Given the description of an element on the screen output the (x, y) to click on. 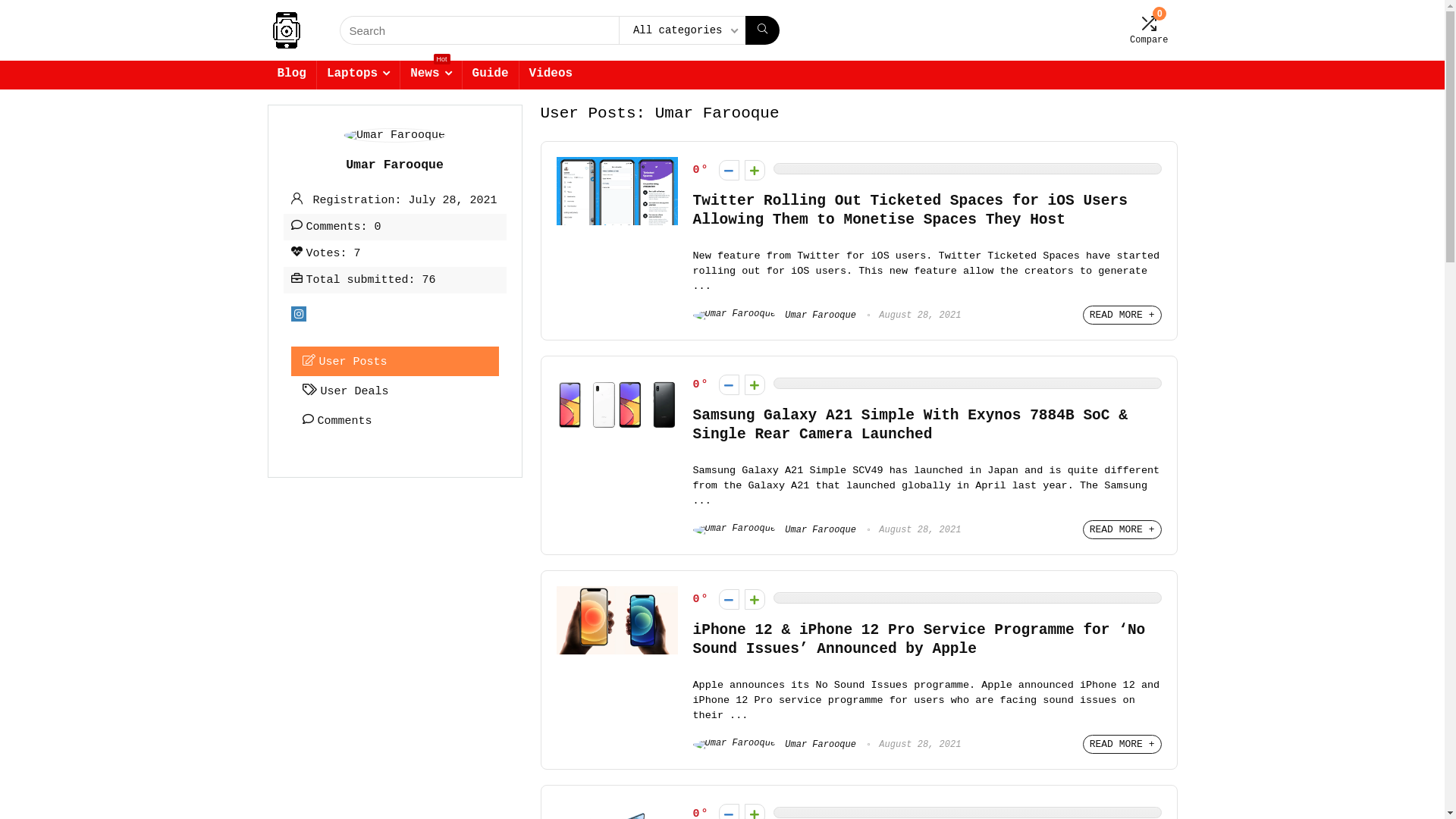
User Posts Element type: text (394, 361)
Vote up Element type: hover (754, 170)
Umar Farooque Element type: text (774, 529)
Umar Farooque Element type: text (774, 744)
Laptops Element type: text (357, 74)
Blog Element type: text (290, 74)
READ MORE + Element type: text (1121, 314)
READ MORE + Element type: text (1121, 743)
Vote down Element type: hover (728, 599)
Umar Farooque Element type: text (774, 315)
Vote down Element type: hover (728, 170)
READ MORE + Element type: text (1121, 529)
Vote down Element type: hover (728, 384)
Comments Element type: text (394, 420)
Videos Element type: text (551, 74)
Vote up Element type: hover (754, 599)
News
Hot Element type: text (430, 74)
Vote up Element type: hover (754, 384)
Guide Element type: text (490, 74)
User Deals Element type: text (394, 390)
